Given the description of an element on the screen output the (x, y) to click on. 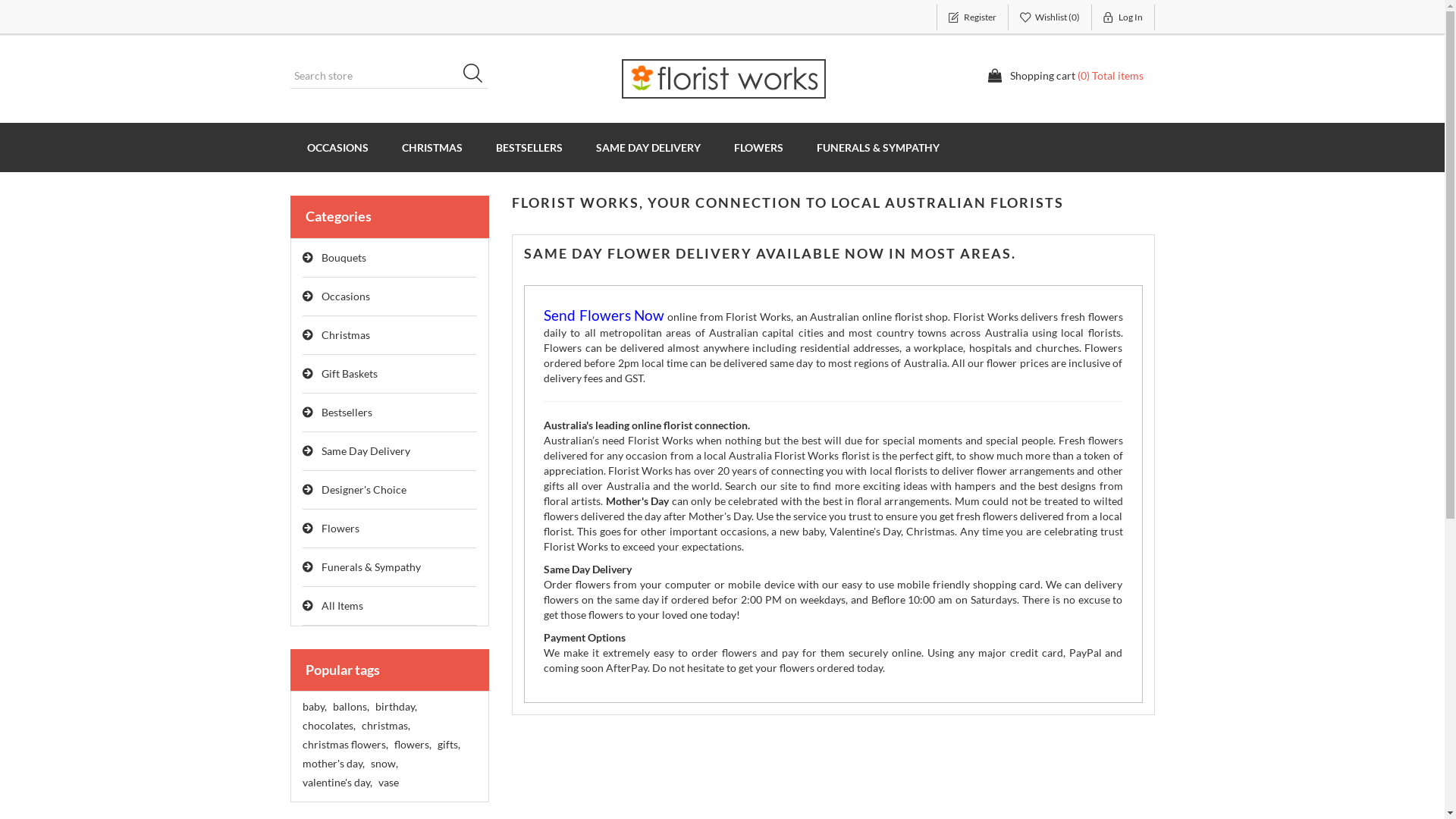
snow, Element type: text (383, 763)
All Items Element type: text (388, 605)
OCCASIONS Element type: text (336, 147)
Gift Baskets Element type: text (388, 373)
birthday, Element type: text (395, 706)
Wishlist (0) Element type: text (1050, 17)
Occasions Element type: text (388, 296)
Bouquets Element type: text (388, 257)
chocolates, Element type: text (327, 725)
Shopping cart (0) Total items Element type: text (1065, 75)
christmas flowers, Element type: text (344, 744)
BESTSELLERS Element type: text (529, 147)
Bestsellers Element type: text (388, 412)
CHRISTMAS Element type: text (432, 147)
valentine's day, Element type: text (336, 782)
Funerals & Sympathy Element type: text (388, 567)
vase Element type: text (387, 782)
FUNERALS & SYMPATHY Element type: text (877, 147)
Designer's Choice Element type: text (388, 489)
baby, Element type: text (313, 706)
flowers, Element type: text (412, 744)
FLOWERS Element type: text (758, 147)
Flowers Element type: text (388, 528)
christmas, Element type: text (384, 725)
Log In Element type: text (1123, 17)
mother's day, Element type: text (332, 763)
Same Day Delivery Element type: text (388, 451)
ballons, Element type: text (350, 706)
Register Element type: text (971, 17)
Christmas Element type: text (388, 335)
SAME DAY DELIVERY Element type: text (648, 147)
Send Flowers Now Element type: text (603, 316)
gifts, Element type: text (447, 744)
